Given the description of an element on the screen output the (x, y) to click on. 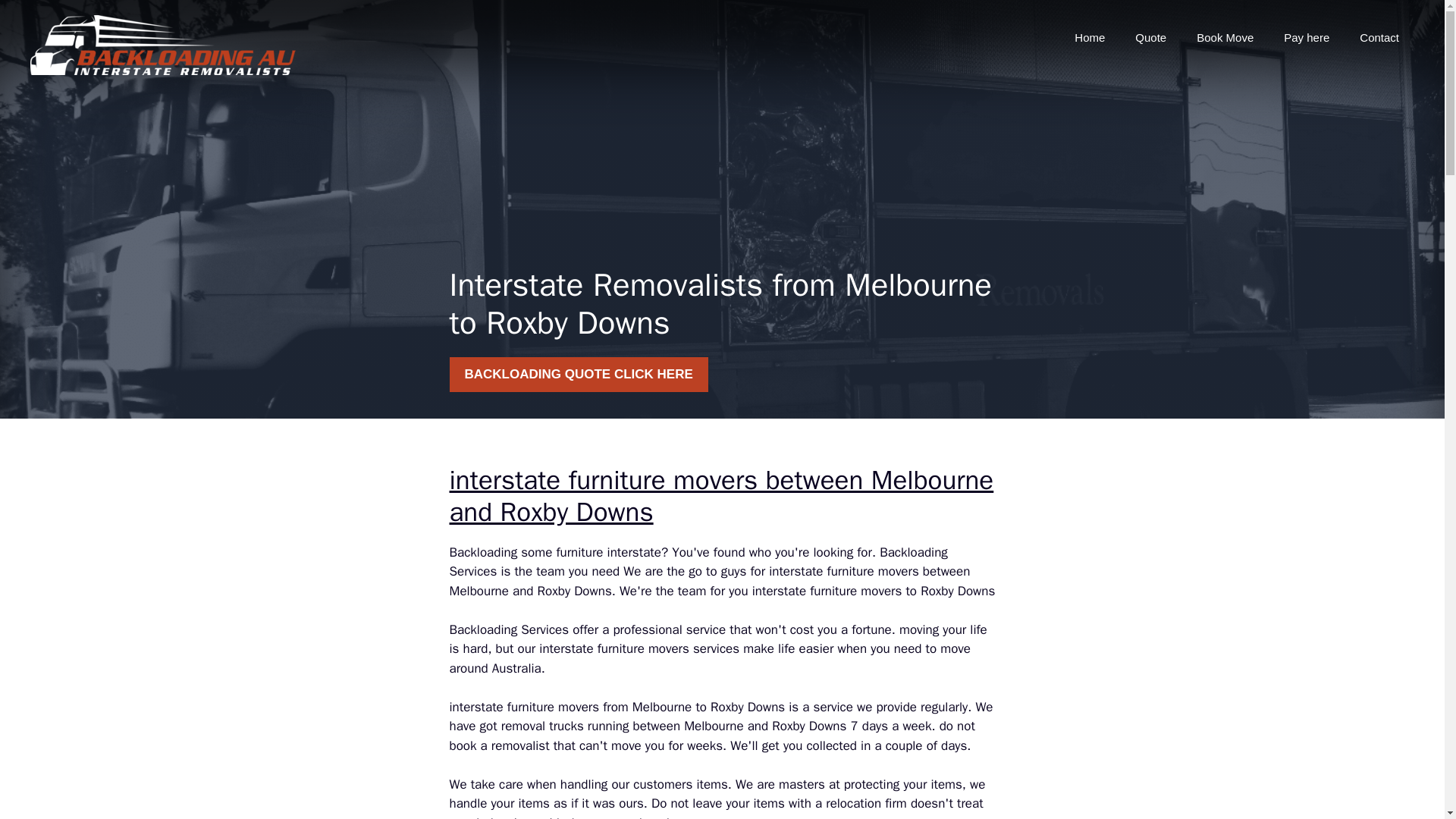
Search (42, 18)
Quote (1149, 37)
Book Move (1224, 37)
BACKLOADING QUOTE CLICK HERE (577, 374)
Contact (1378, 37)
Pay here (1305, 37)
Home (1089, 37)
